Given the description of an element on the screen output the (x, y) to click on. 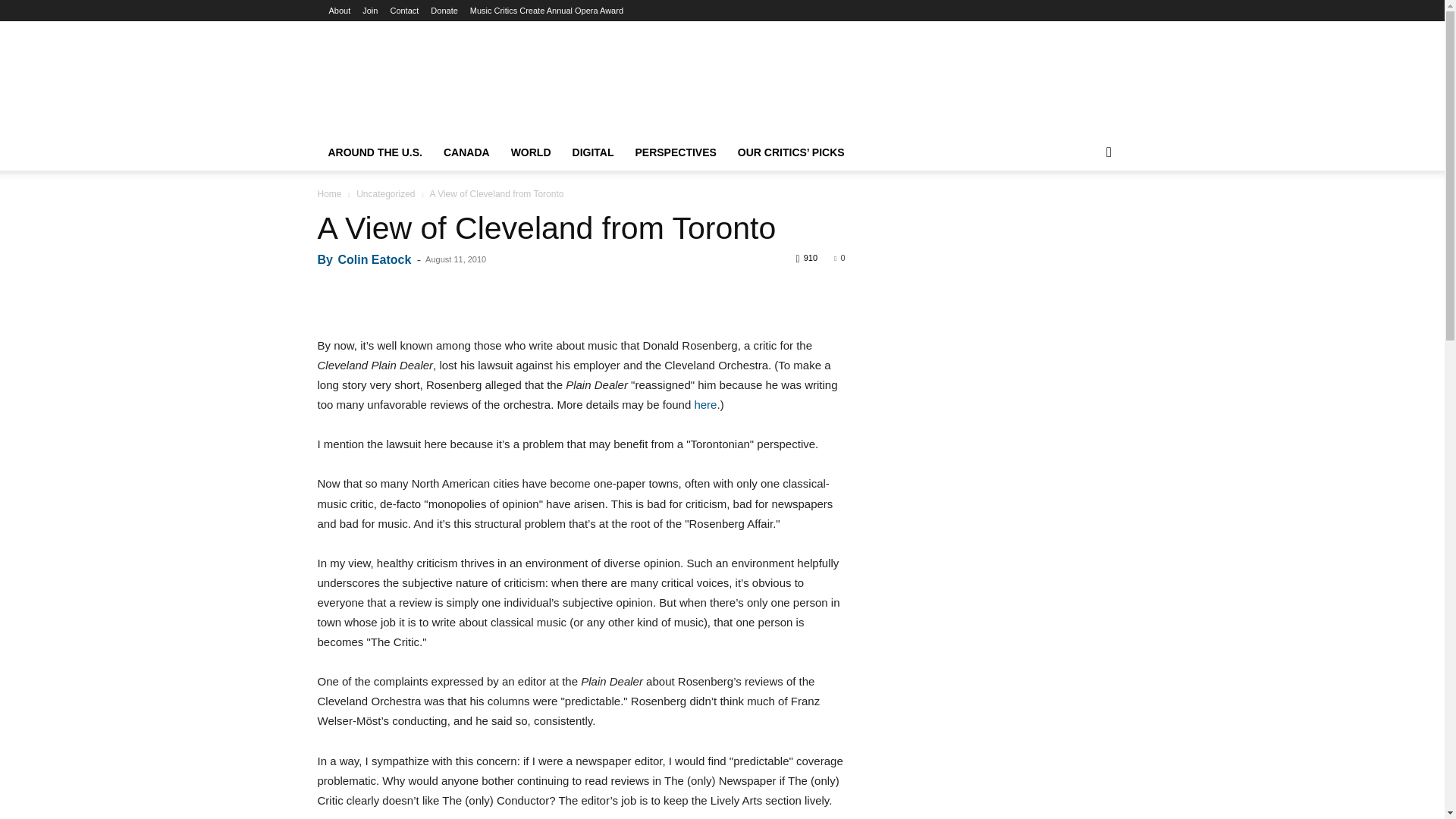
Join (369, 10)
Contact (404, 10)
AROUND THE U.S. (374, 152)
Donate (443, 10)
Classical Voice North America (721, 64)
Music Critics Create Annual Opera Award (546, 10)
About (339, 10)
